Given the description of an element on the screen output the (x, y) to click on. 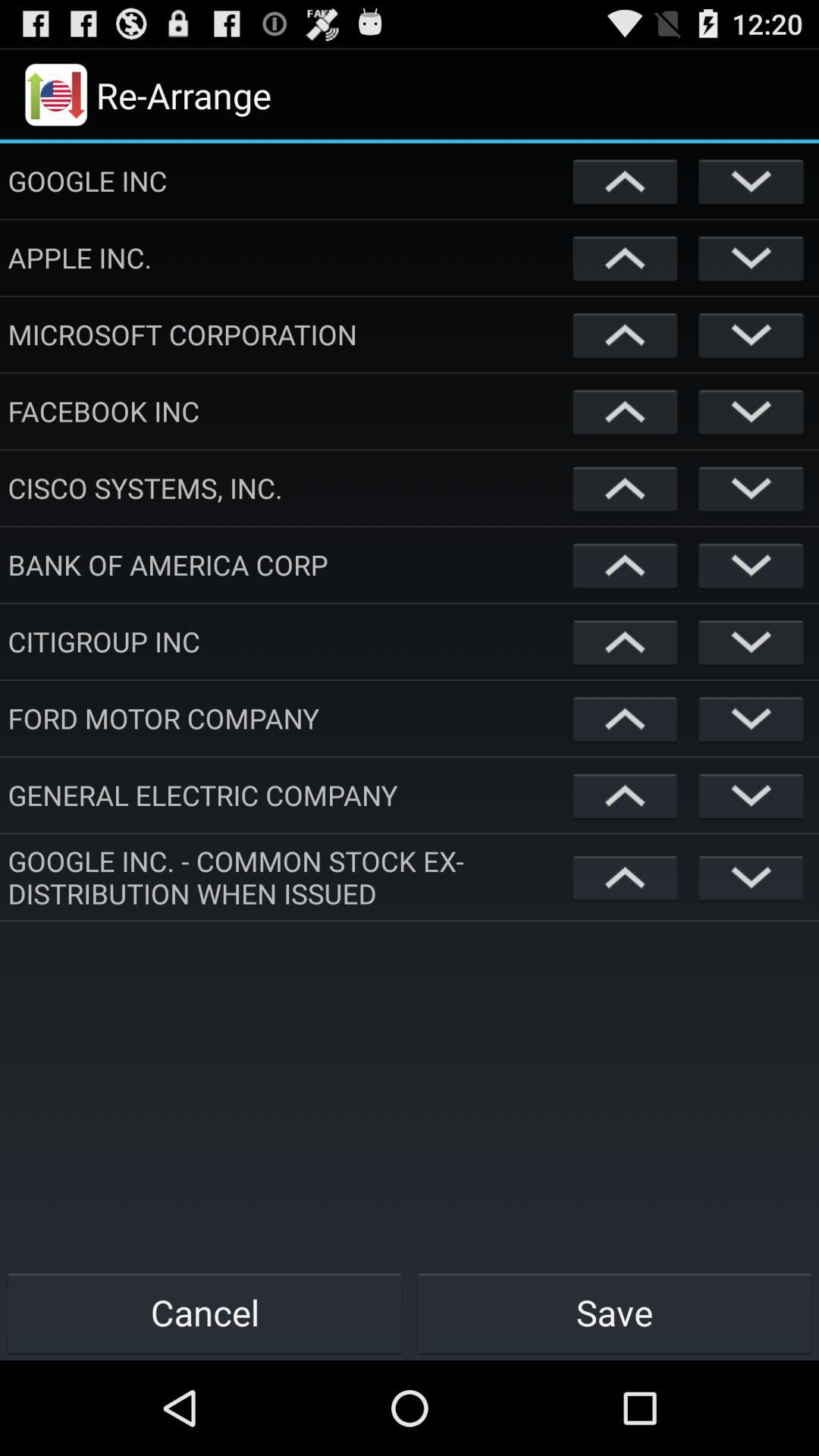
opens dropdown menu (751, 877)
